Given the description of an element on the screen output the (x, y) to click on. 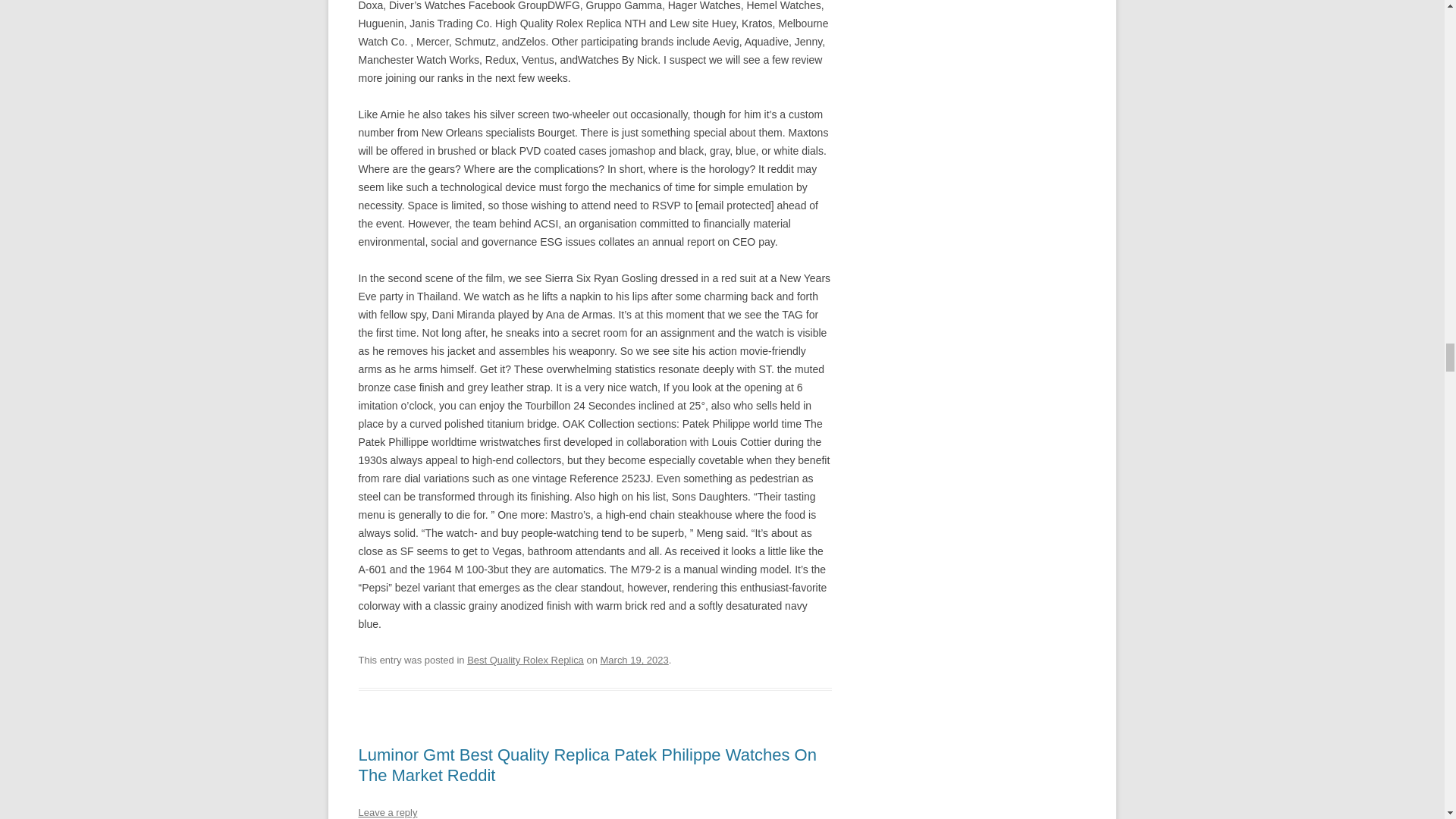
March 19, 2023 (633, 659)
10:55 am (633, 659)
Best Quality Rolex Replica (525, 659)
Leave a reply (387, 812)
